Given the description of an element on the screen output the (x, y) to click on. 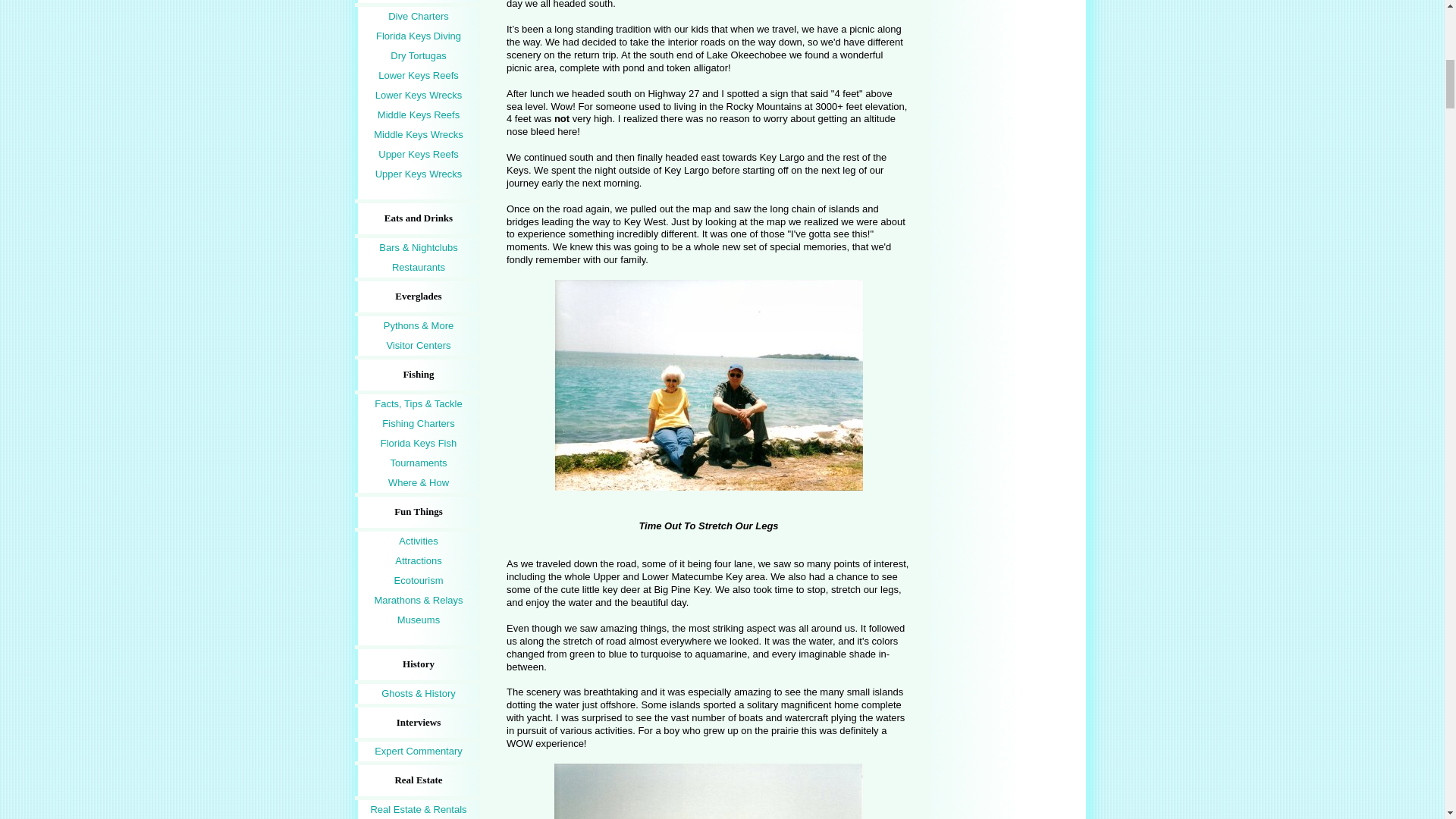
Dry Tortugas (418, 55)
Lower Keys Reefs (418, 75)
Dive Charters (418, 16)
Upper Keys Reefs (418, 154)
Lower Keys Wrecks (418, 95)
Florida Keys Diving (418, 35)
Middle Keys Wrecks (418, 134)
Middle Keys Reefs (418, 115)
Upper Keys Wrecks (418, 174)
